Given the description of an element on the screen output the (x, y) to click on. 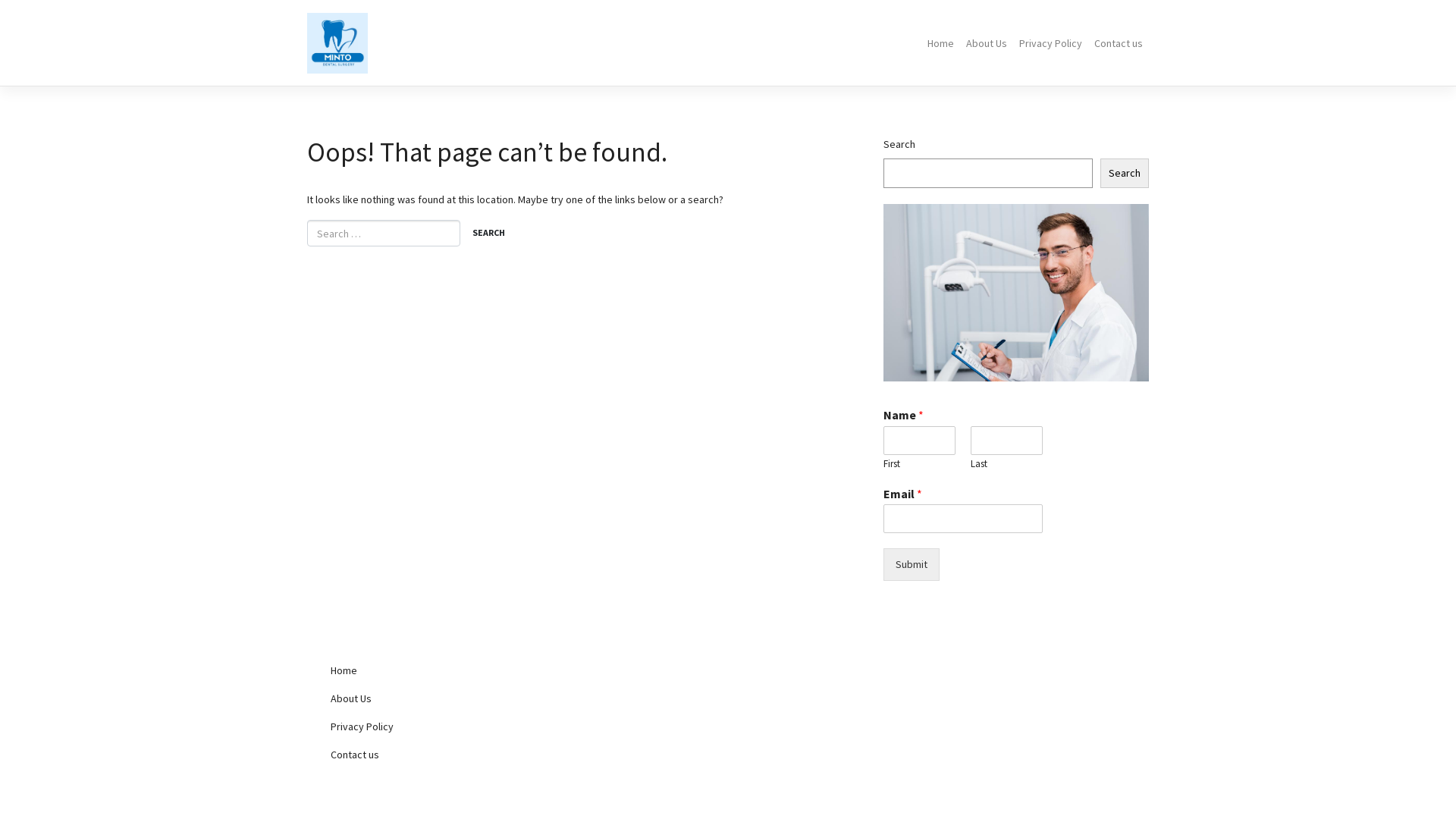
Search Element type: text (1124, 173)
Contact us Element type: text (1118, 43)
Submit Element type: text (911, 564)
About Us Element type: text (986, 43)
Search for: Element type: hover (383, 232)
Privacy Policy Element type: text (1050, 43)
Contact us Element type: text (447, 754)
Search Element type: text (488, 234)
Home Element type: text (447, 670)
Home Element type: text (940, 43)
Privacy Policy Element type: text (447, 726)
About Us Element type: text (447, 698)
